Given the description of an element on the screen output the (x, y) to click on. 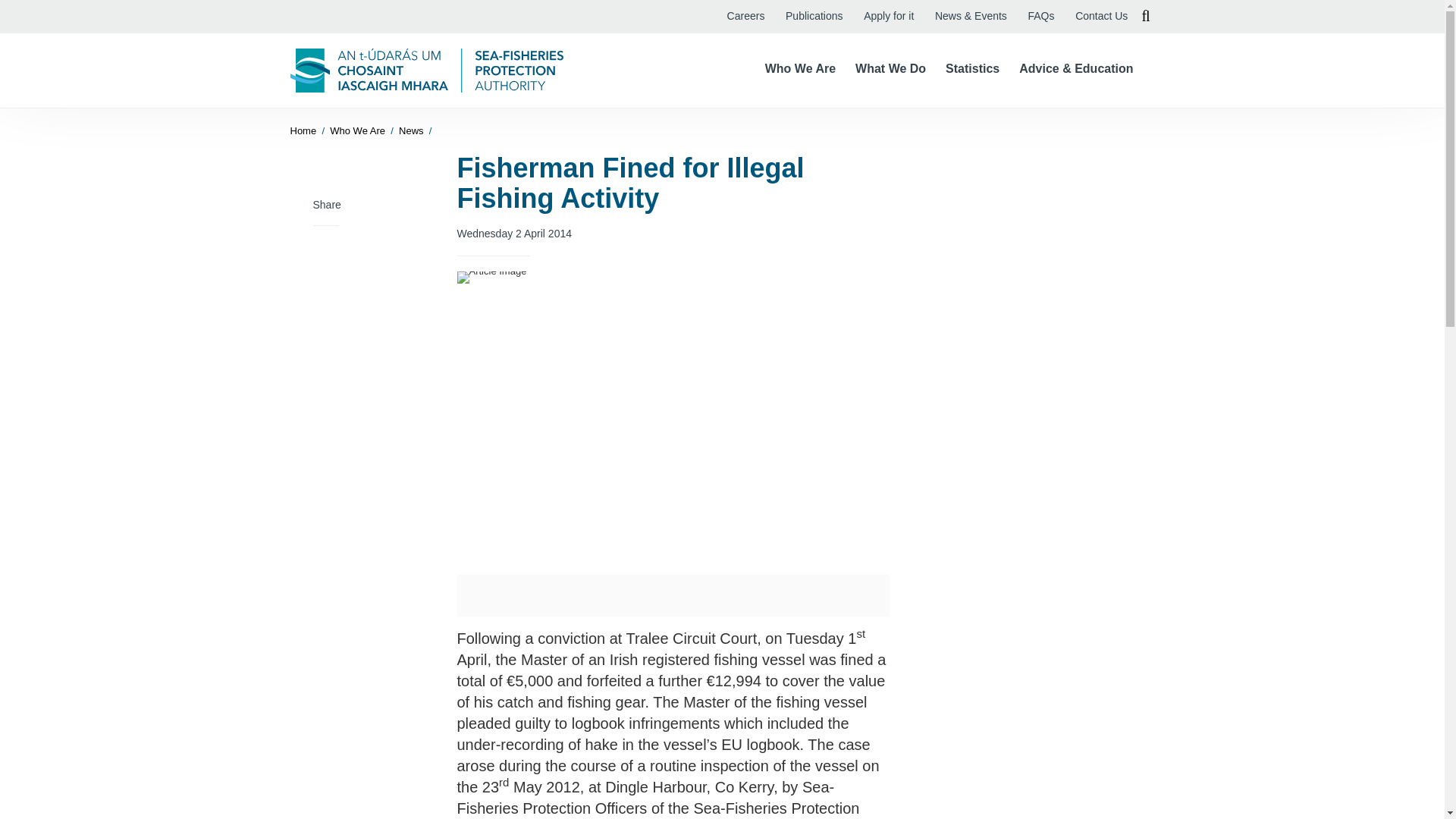
Apply for it (888, 16)
Statistics (972, 68)
Careers (745, 16)
Who We Are (800, 68)
Sea Fisheries Protection Authority (425, 69)
FAQs (1039, 16)
What We Do (890, 68)
Search Toggle (1145, 16)
Publications (813, 16)
Contact Us (1101, 16)
